Given the description of an element on the screen output the (x, y) to click on. 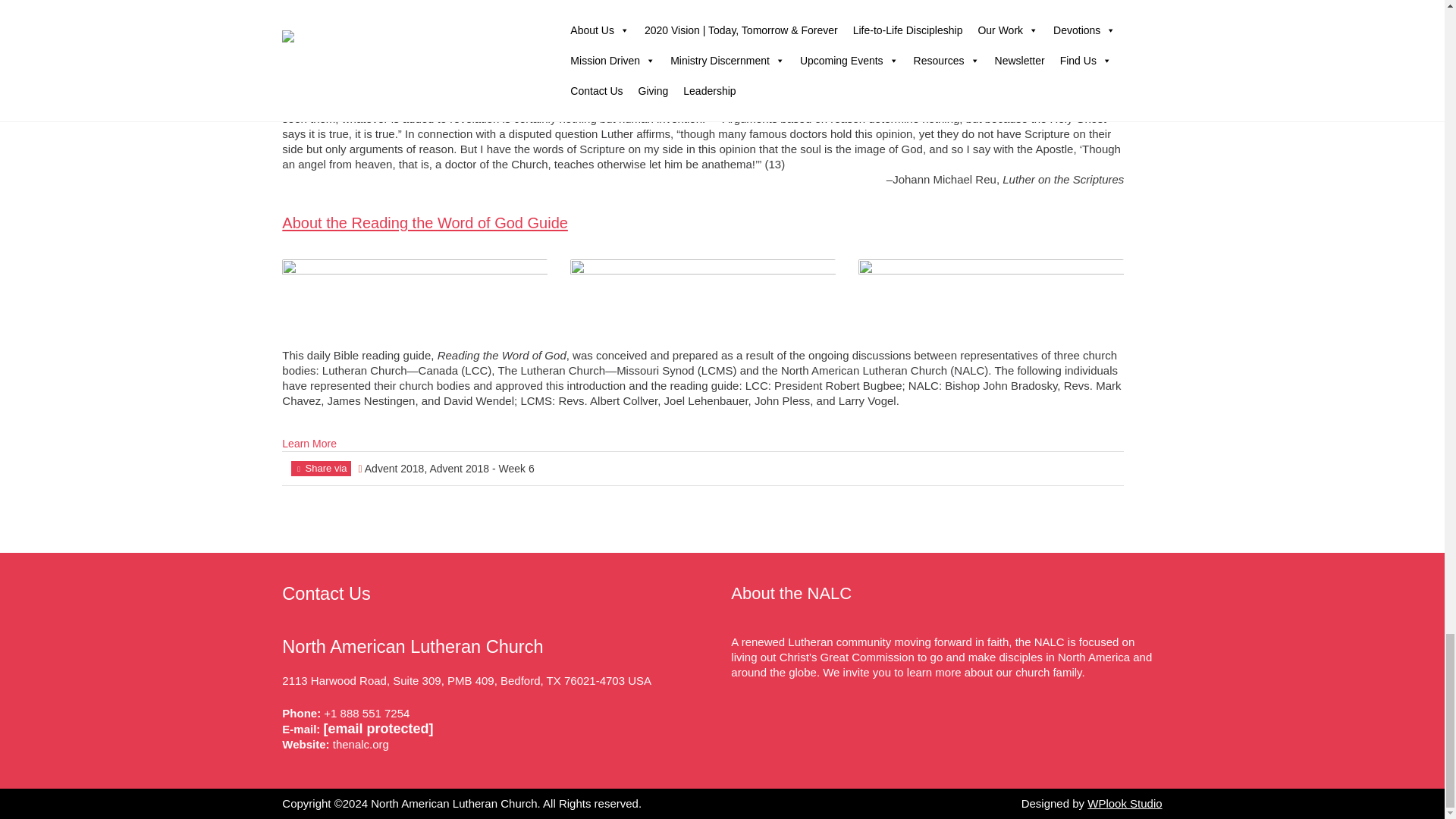
Lutheran Church - Canada (702, 292)
WPlook Studio (1124, 802)
Page 13 (703, 95)
NALC-logo (414, 296)
lcms-logo (991, 303)
